Given the description of an element on the screen output the (x, y) to click on. 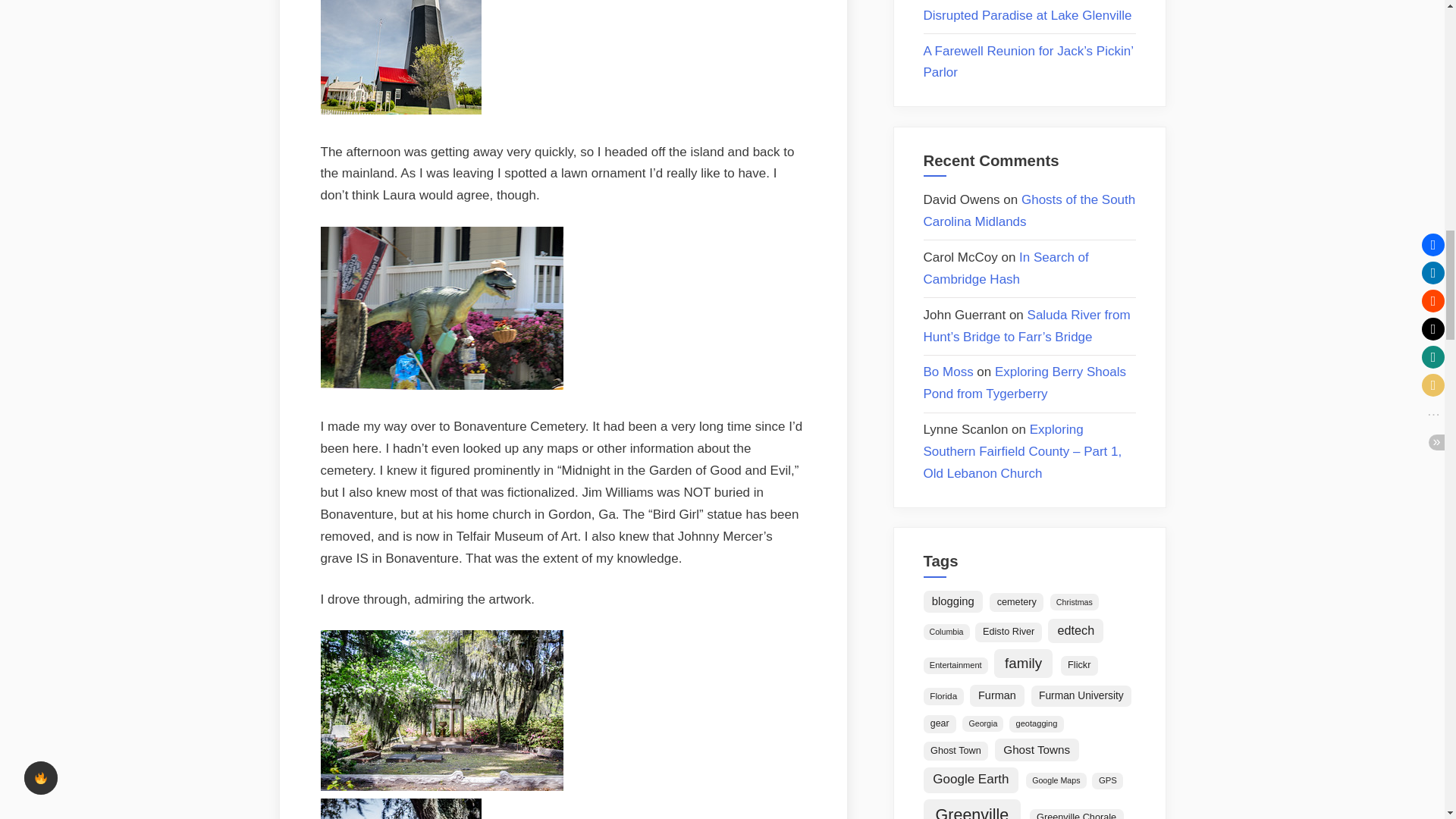
Tybee Island Lighthouse by Tom Taylor, on Flickr (400, 110)
Bonaventure Cemetery-4 by Tom Taylor, on Flickr (441, 786)
Tybee Raptor by Tom Taylor, on Flickr (441, 385)
